Given the description of an element on the screen output the (x, y) to click on. 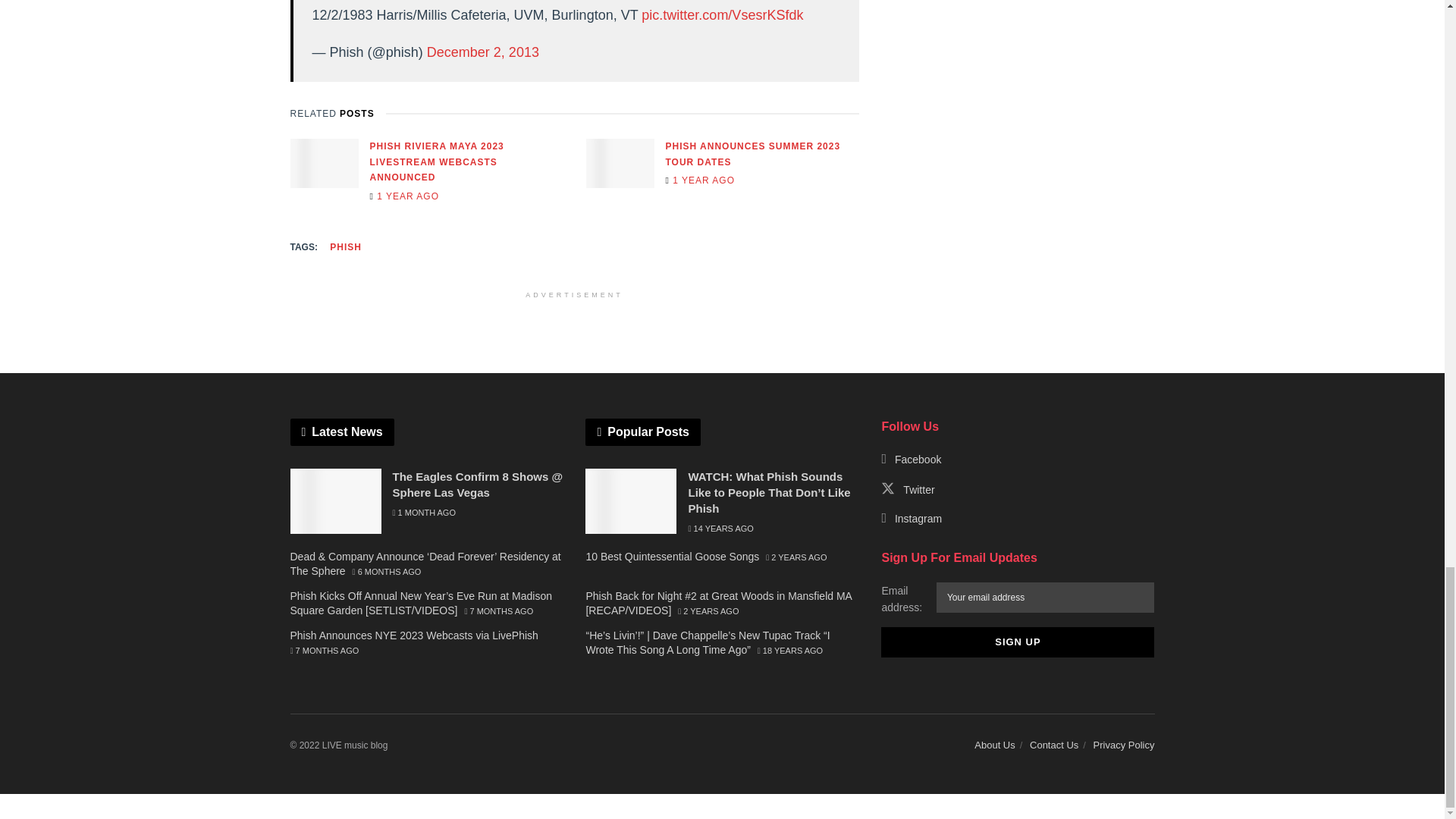
1 YEAR AGO (700, 180)
PHISH RIVIERA MAYA 2023 LIVESTREAM WEBCASTS ANNOUNCED (436, 161)
1 YEAR AGO (404, 195)
PHISH (345, 247)
Sign up (1017, 642)
PHISH ANNOUNCES SUMMER 2023 TOUR DATES (753, 153)
December 2, 2013 (482, 52)
